Given the description of an element on the screen output the (x, y) to click on. 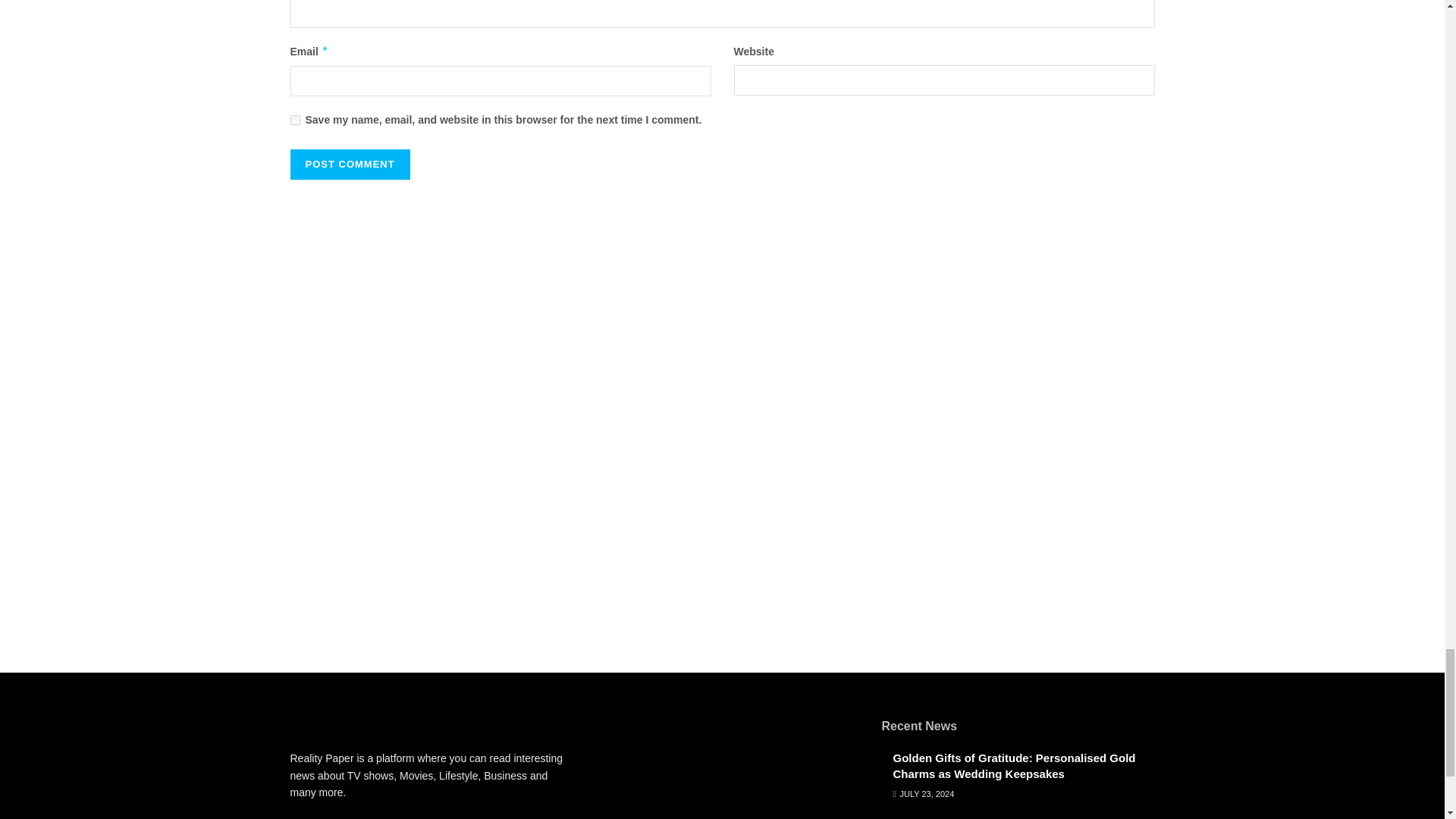
yes (294, 120)
Post Comment (349, 164)
